Given the description of an element on the screen output the (x, y) to click on. 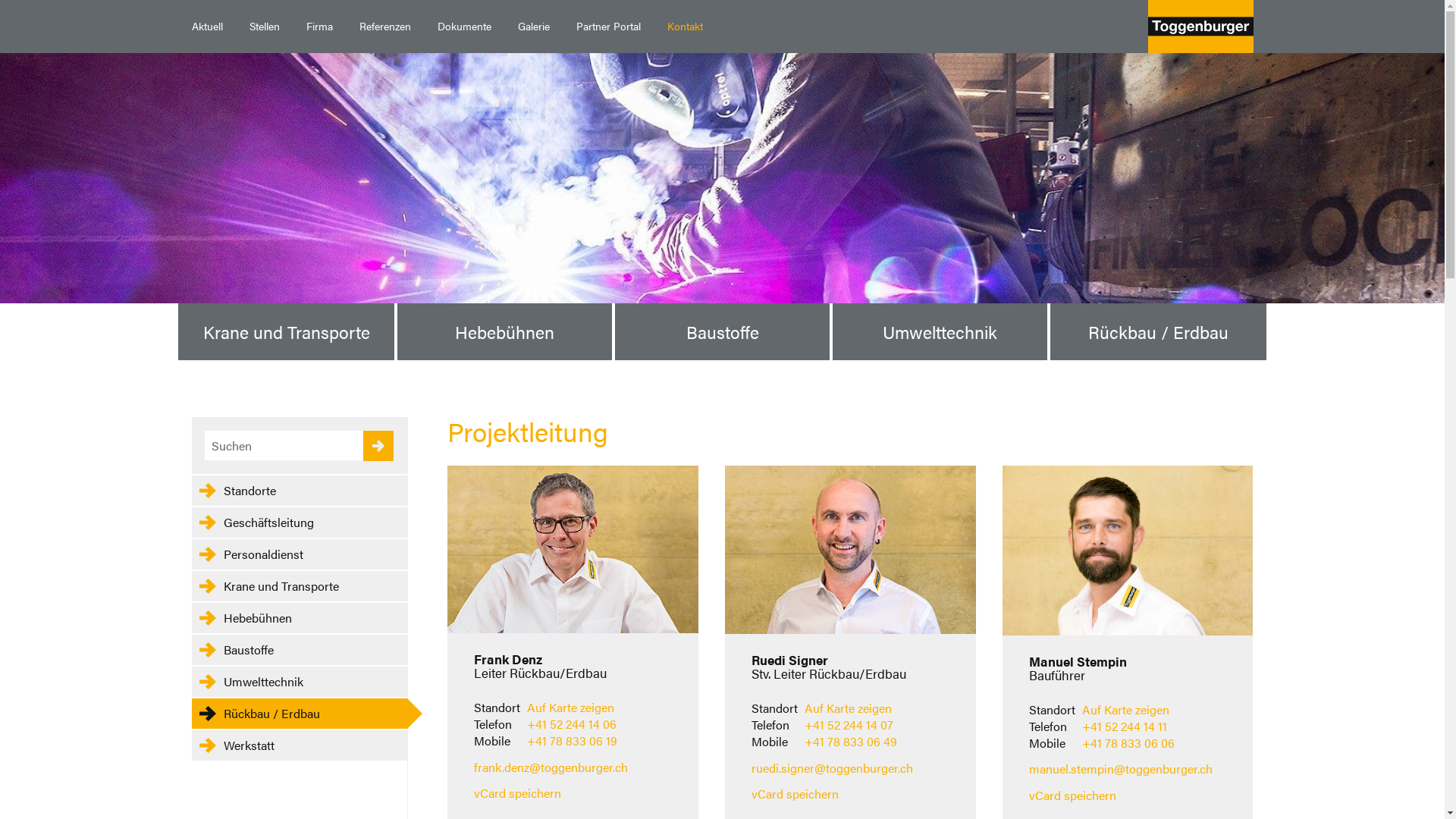
Aktuell Element type: text (206, 26)
Umwelttechnik Element type: text (939, 331)
Werkstatt Element type: text (298, 745)
Umwelttechnik Element type: text (298, 681)
Auf Karte zeigen Element type: text (570, 706)
Baustoffe Element type: text (298, 649)
Krane und Transporte Element type: text (298, 586)
Auf Karte zeigen Element type: text (847, 707)
Standorte Element type: text (298, 490)
Partner Portal Element type: text (607, 26)
+41 78 833 06 49 Element type: text (850, 740)
Galerie Element type: text (533, 26)
Krane und Transporte Element type: text (286, 331)
Dokumente Element type: text (463, 26)
+41 78 833 06 06 Element type: text (1128, 742)
vCard speichern Element type: text (517, 792)
Referenzen Element type: text (384, 26)
vCard speichern Element type: text (794, 793)
Personaldienst Element type: text (298, 554)
Stellen Element type: text (263, 26)
vCard speichern Element type: text (1072, 794)
manuel.stempin@toggenburger.ch Element type: text (1120, 768)
+41 52 244 14 06 Element type: text (571, 723)
Firma Element type: text (318, 26)
ruedi.signer@toggenburger.ch Element type: text (832, 767)
Kontakt Element type: text (684, 26)
Baustoffe Element type: text (722, 331)
Auf Karte zeigen Element type: text (1125, 709)
+41 52 244 14 07 Element type: text (848, 724)
+41 78 833 06 19 Element type: text (572, 740)
+41 52 244 14 11 Element type: text (1124, 725)
frank.denz@toggenburger.ch Element type: text (550, 766)
